Given the description of an element on the screen output the (x, y) to click on. 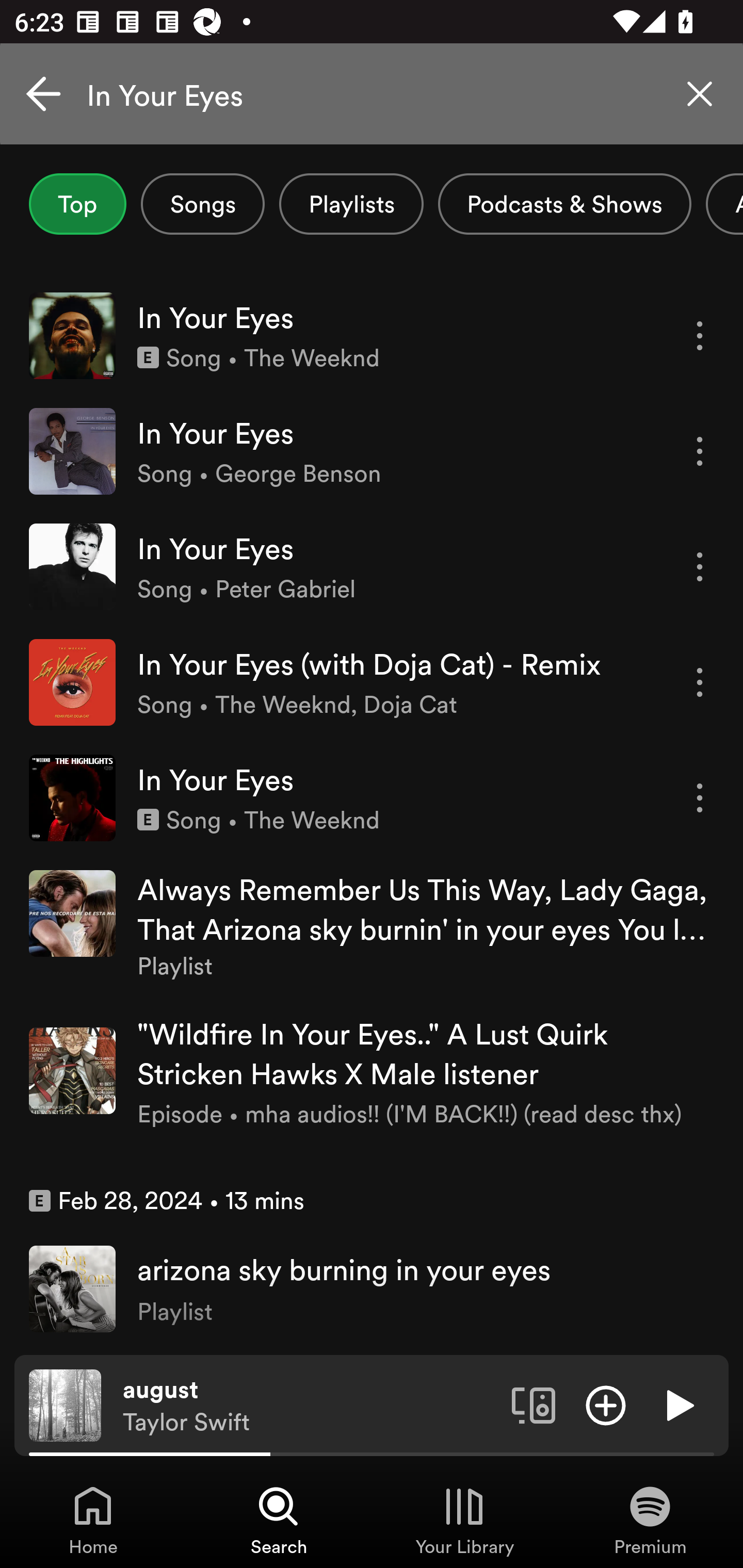
In Your Eyes (371, 93)
Cancel (43, 93)
Clear search query (699, 93)
Top (77, 203)
Songs (202, 203)
Playlists (351, 203)
Podcasts & Shows (564, 203)
More options for song In Your Eyes (699, 336)
More options for song In Your Eyes (699, 450)
More options for song In Your Eyes (699, 566)
More options for song In Your Eyes (699, 798)
arizona sky burning in your eyes Playlist (371, 1288)
august Taylor Swift (309, 1405)
The cover art of the currently playing track (64, 1404)
Connect to a device. Opens the devices menu (533, 1404)
Add item (605, 1404)
Play (677, 1404)
Home, Tab 1 of 4 Home Home (92, 1519)
Search, Tab 2 of 4 Search Search (278, 1519)
Your Library, Tab 3 of 4 Your Library Your Library (464, 1519)
Premium, Tab 4 of 4 Premium Premium (650, 1519)
